Given the description of an element on the screen output the (x, y) to click on. 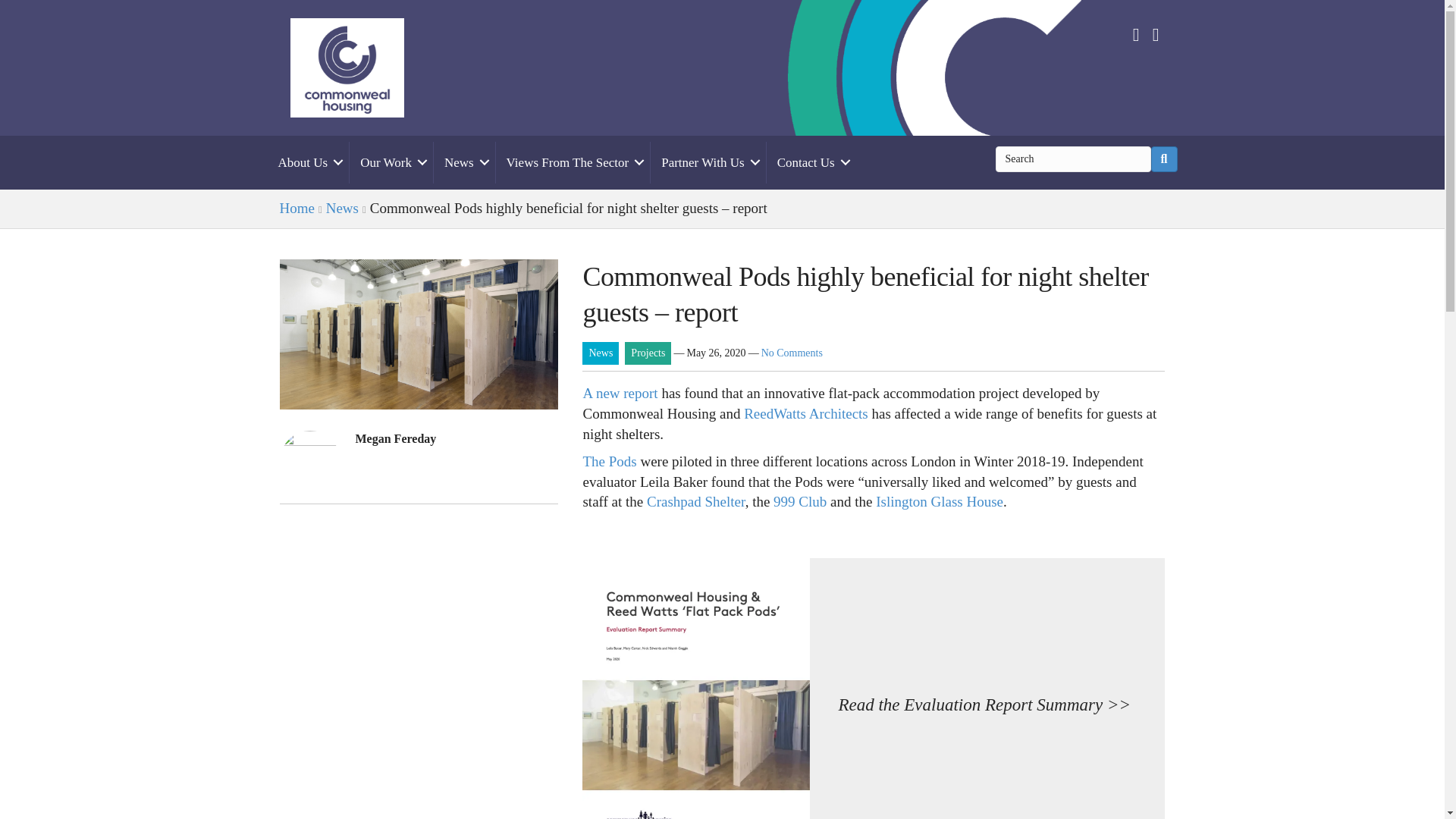
Type and press Enter to search. (1085, 158)
Our Work (390, 161)
Views From The Sector (573, 161)
About Us (307, 161)
Pods (418, 334)
Search (1072, 158)
commonweal-logo-2020-white-alt (346, 67)
Search (1072, 158)
News (464, 161)
